Given the description of an element on the screen output the (x, y) to click on. 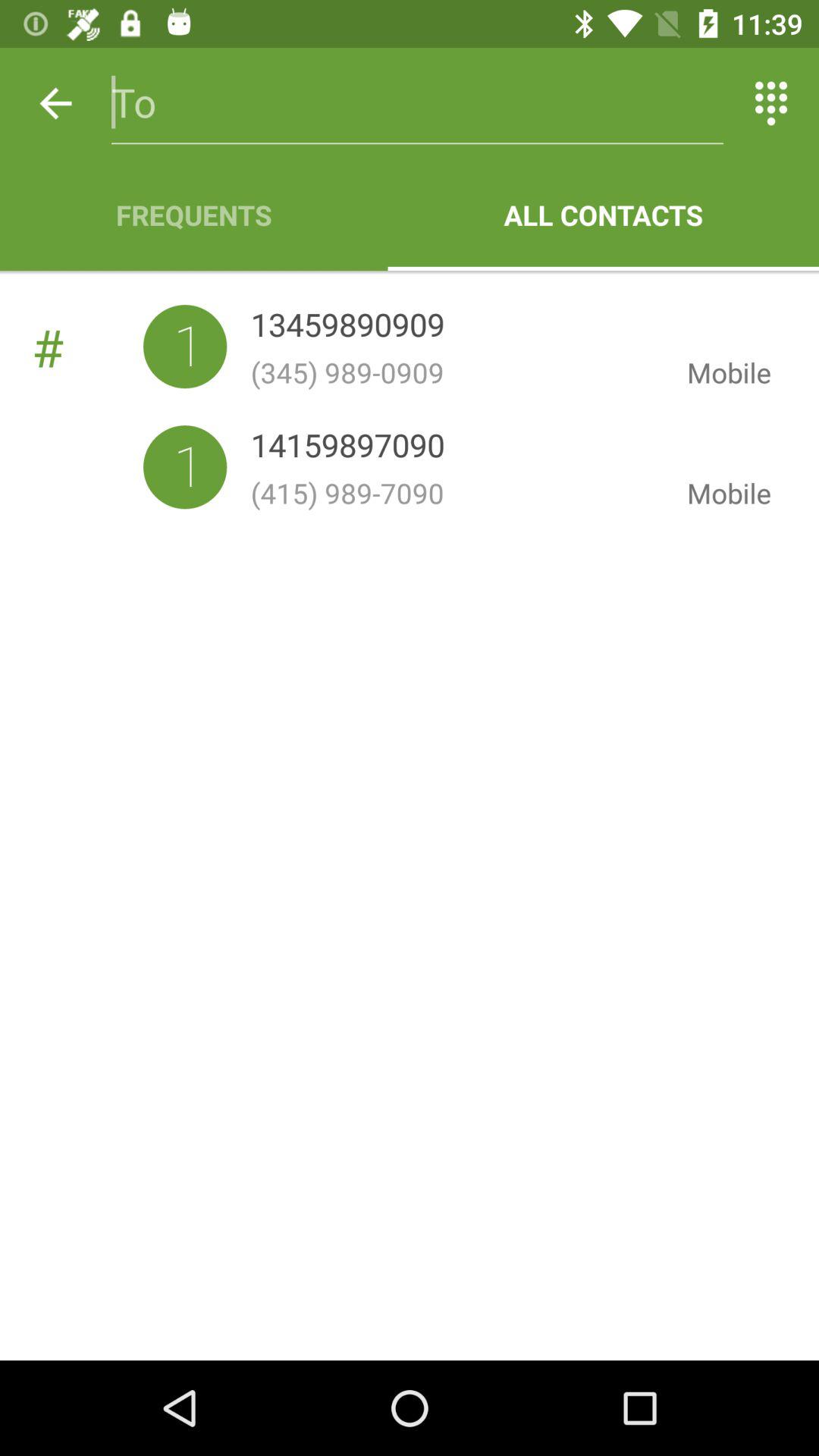
select the # item (87, 346)
